Given the description of an element on the screen output the (x, y) to click on. 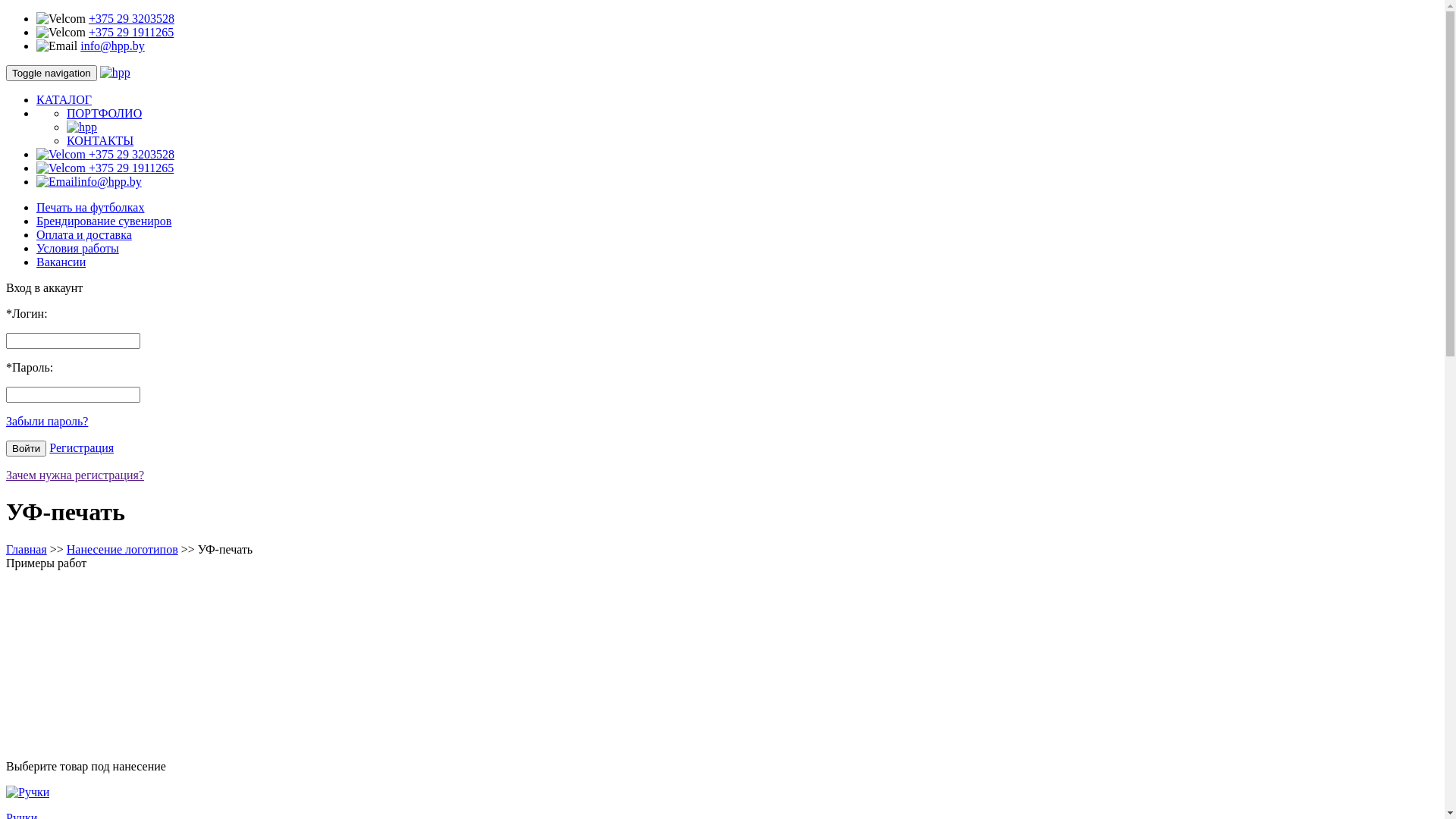
Toggle navigation Element type: text (51, 73)
+375 29 3203528 Element type: text (131, 18)
+375 29 3203528 Element type: text (105, 153)
info@hpp.by Element type: text (88, 181)
+375 29 1911265 Element type: text (130, 31)
+375 29 1911265 Element type: text (104, 167)
info@hpp.by Element type: text (112, 45)
